Given the description of an element on the screen output the (x, y) to click on. 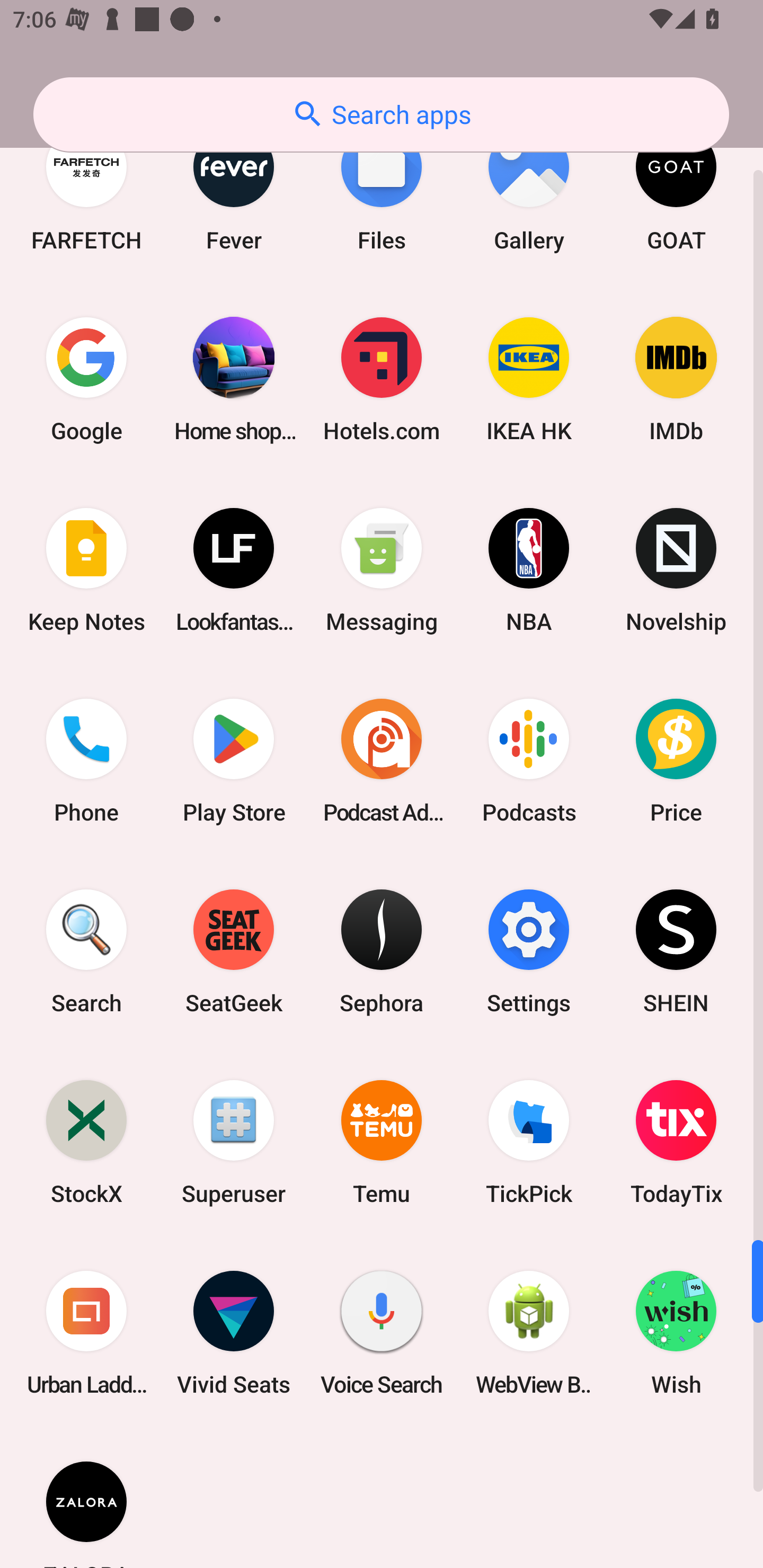
  Search apps (381, 114)
FARFETCH (86, 187)
Fever (233, 187)
Files (381, 187)
Gallery (528, 187)
GOAT (676, 187)
Google (86, 379)
Home shopping (233, 379)
Hotels.com (381, 379)
IKEA HK (528, 379)
IMDb (676, 379)
Keep Notes (86, 569)
Lookfantastic (233, 569)
Messaging (381, 569)
NBA (528, 569)
Novelship (676, 569)
Phone (86, 760)
Play Store (233, 760)
Podcast Addict (381, 760)
Podcasts (528, 760)
Price (676, 760)
Search (86, 951)
SeatGeek (233, 951)
Sephora (381, 951)
Settings (528, 951)
SHEIN (676, 951)
StockX (86, 1142)
Superuser (233, 1142)
Temu (381, 1142)
TickPick (528, 1142)
TodayTix (676, 1142)
Urban Ladder (86, 1332)
Vivid Seats (233, 1332)
Voice Search (381, 1332)
WebView Browser Tester (528, 1332)
Wish (676, 1332)
ZALORA (86, 1498)
